Given the description of an element on the screen output the (x, y) to click on. 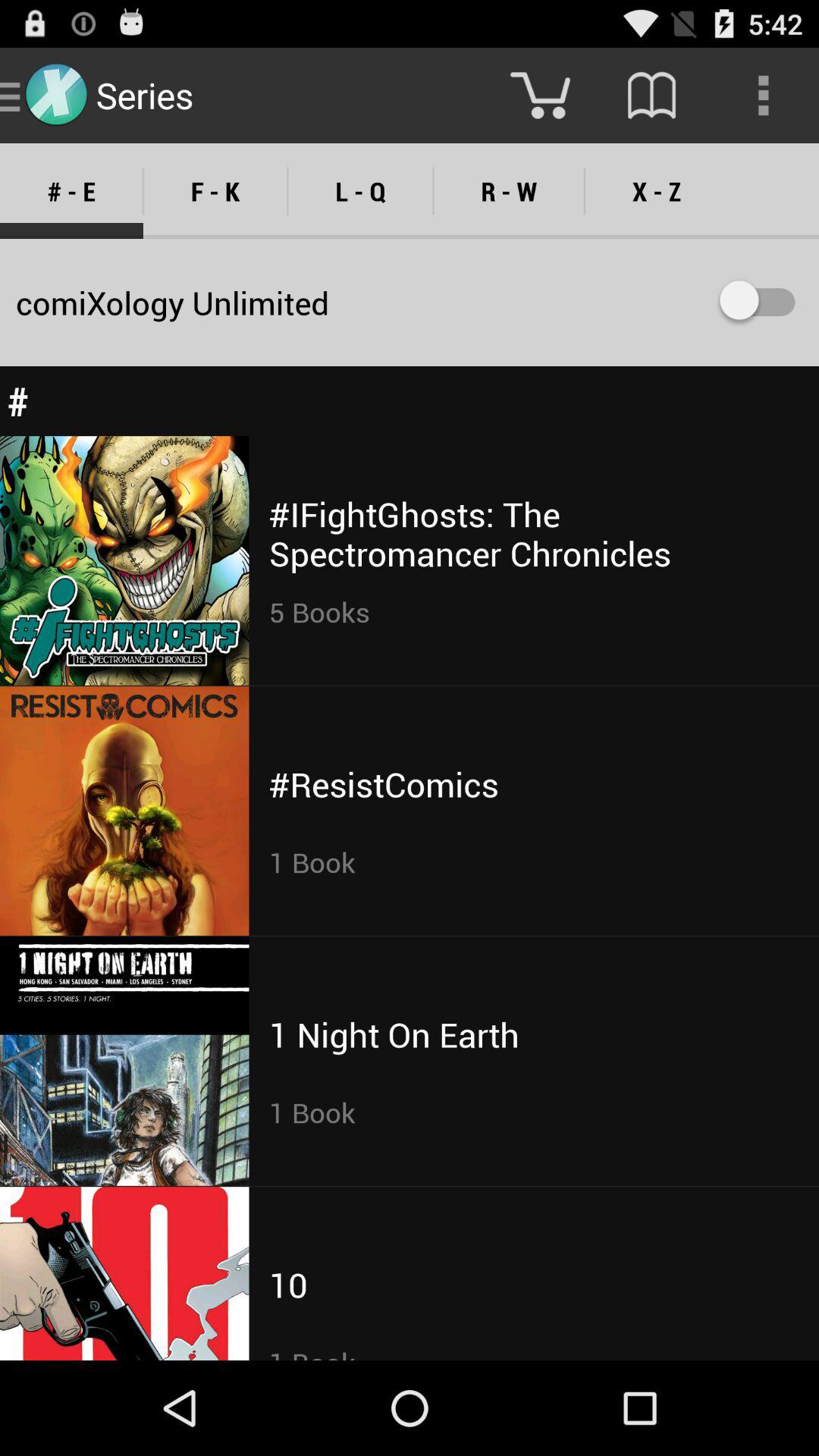
tap item above x - z (651, 95)
